Given the description of an element on the screen output the (x, y) to click on. 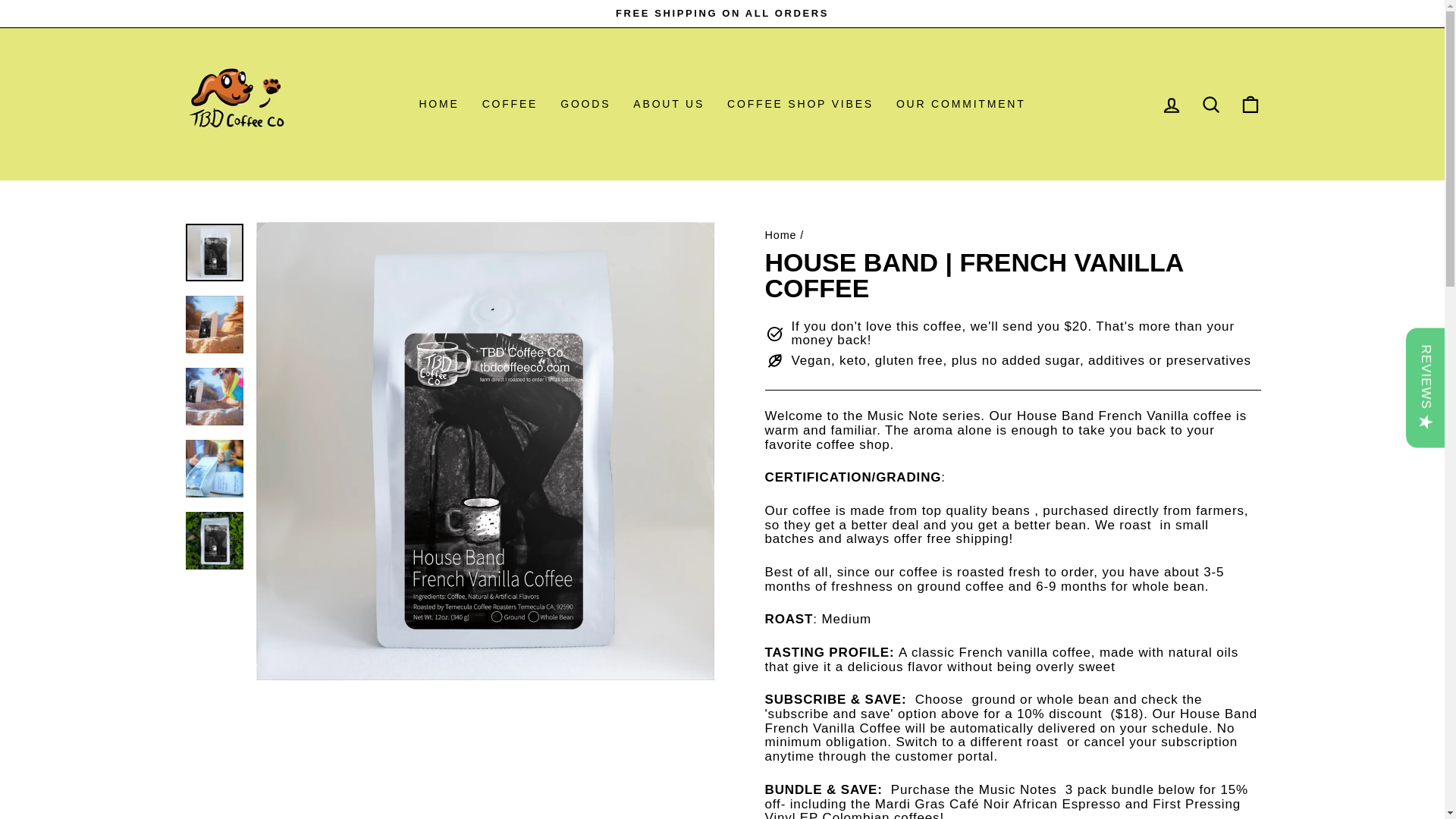
ICON-BAG-MINIMAL (1171, 103)
COFFEE SHOP VIBES (1249, 104)
OUR COMMITMENT (800, 104)
Home (960, 104)
COFFEE (780, 234)
HOME (510, 104)
ABOUT US (438, 104)
ICON-SEARCH (668, 104)
